Given the description of an element on the screen output the (x, y) to click on. 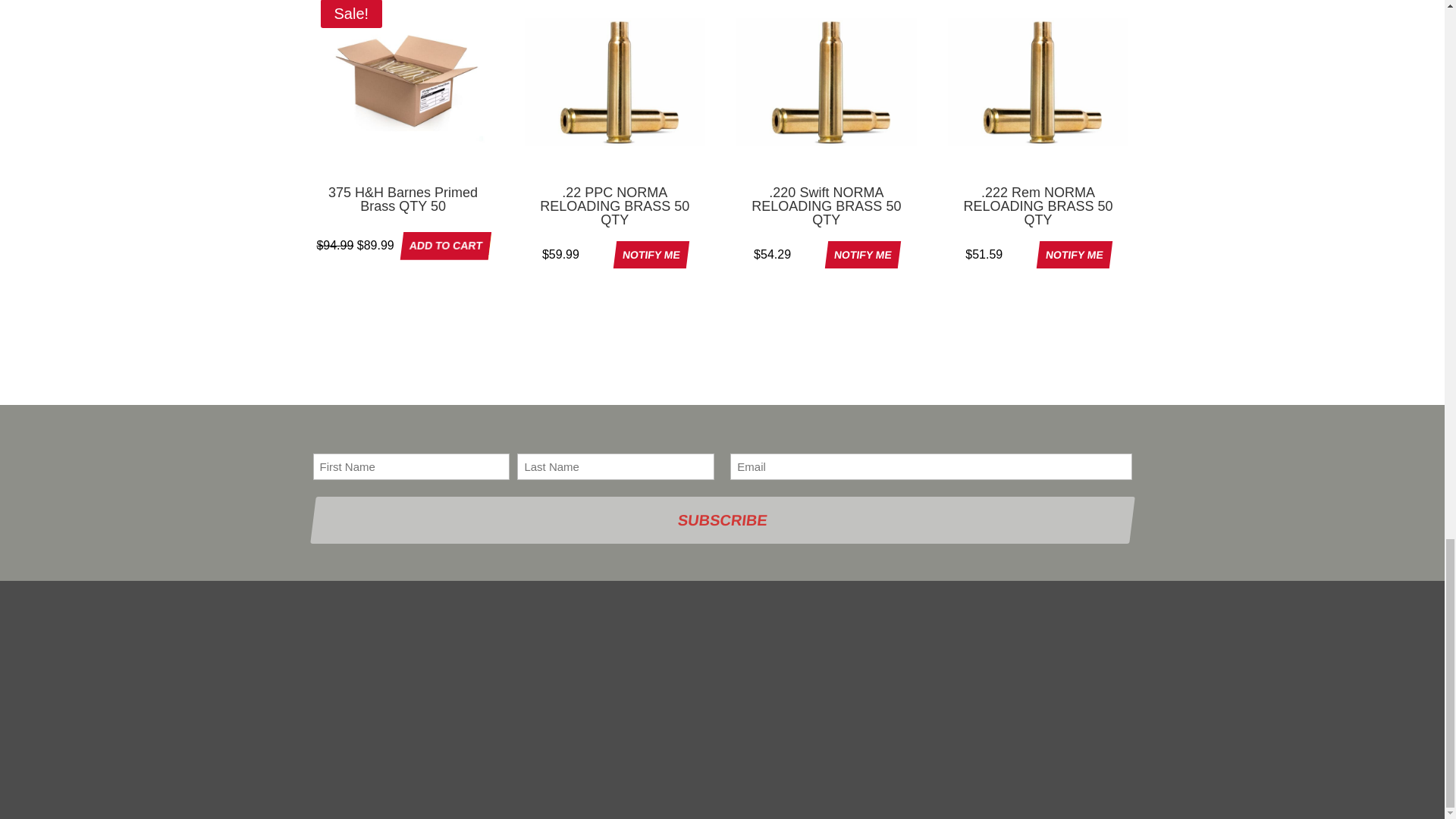
Subscribe (719, 519)
